Given the description of an element on the screen output the (x, y) to click on. 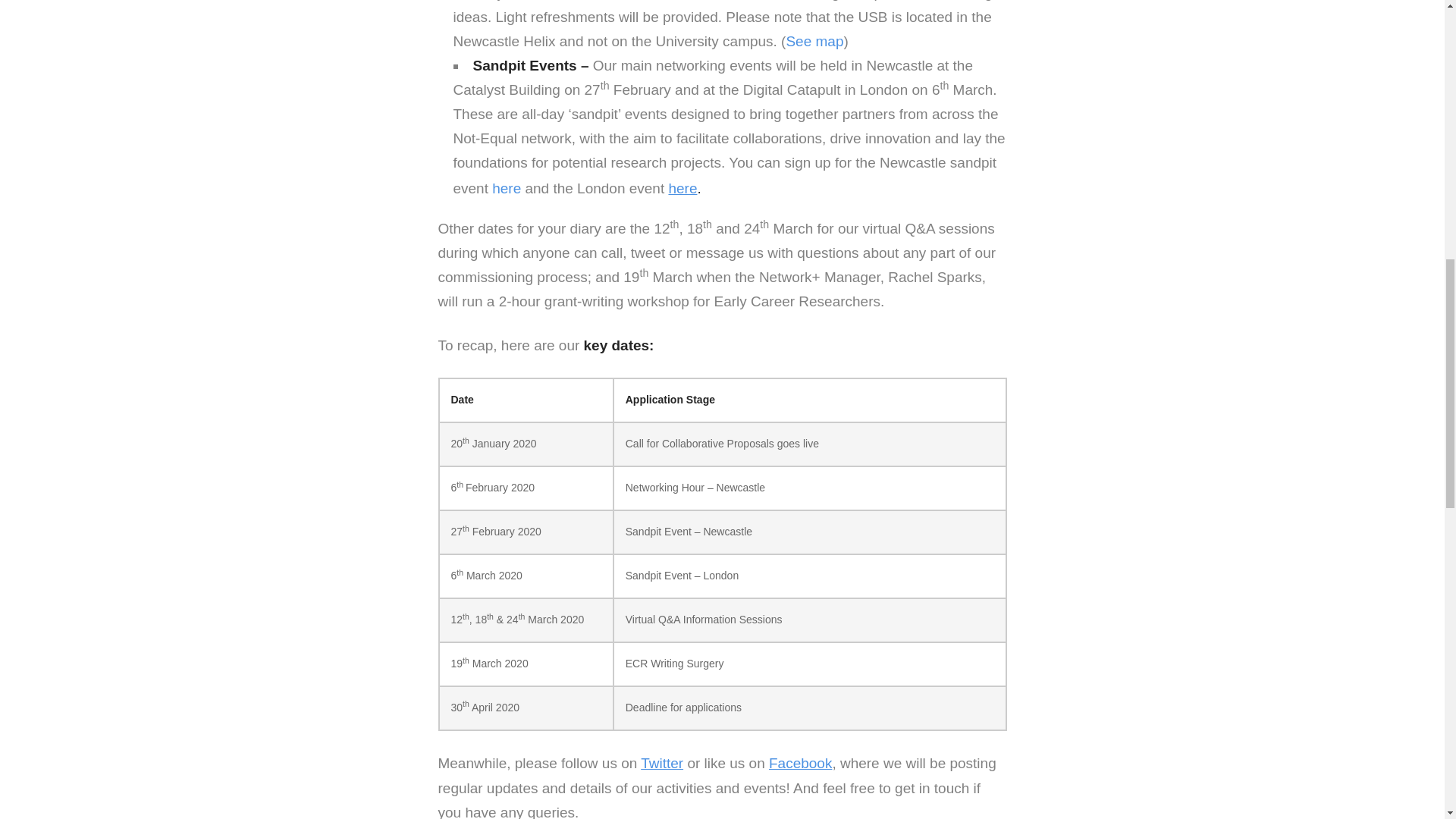
here (506, 188)
See map (814, 41)
here (682, 188)
Facebook (799, 763)
Twitter (661, 763)
